Given the description of an element on the screen output the (x, y) to click on. 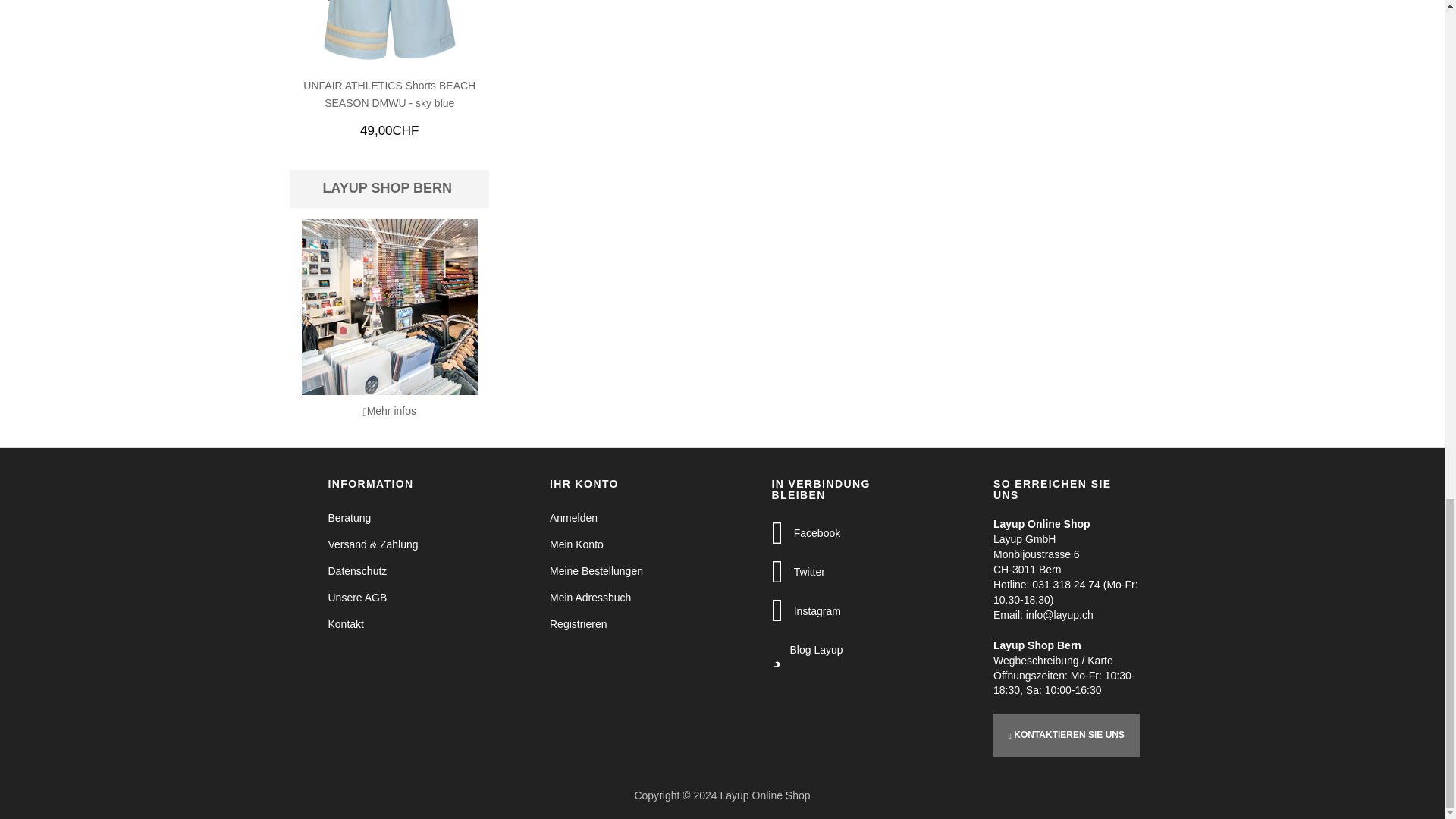
UNFAIR ATHLETICS Shorts BEACH SEASON DMWU - sky blue (389, 30)
